Given the description of an element on the screen output the (x, y) to click on. 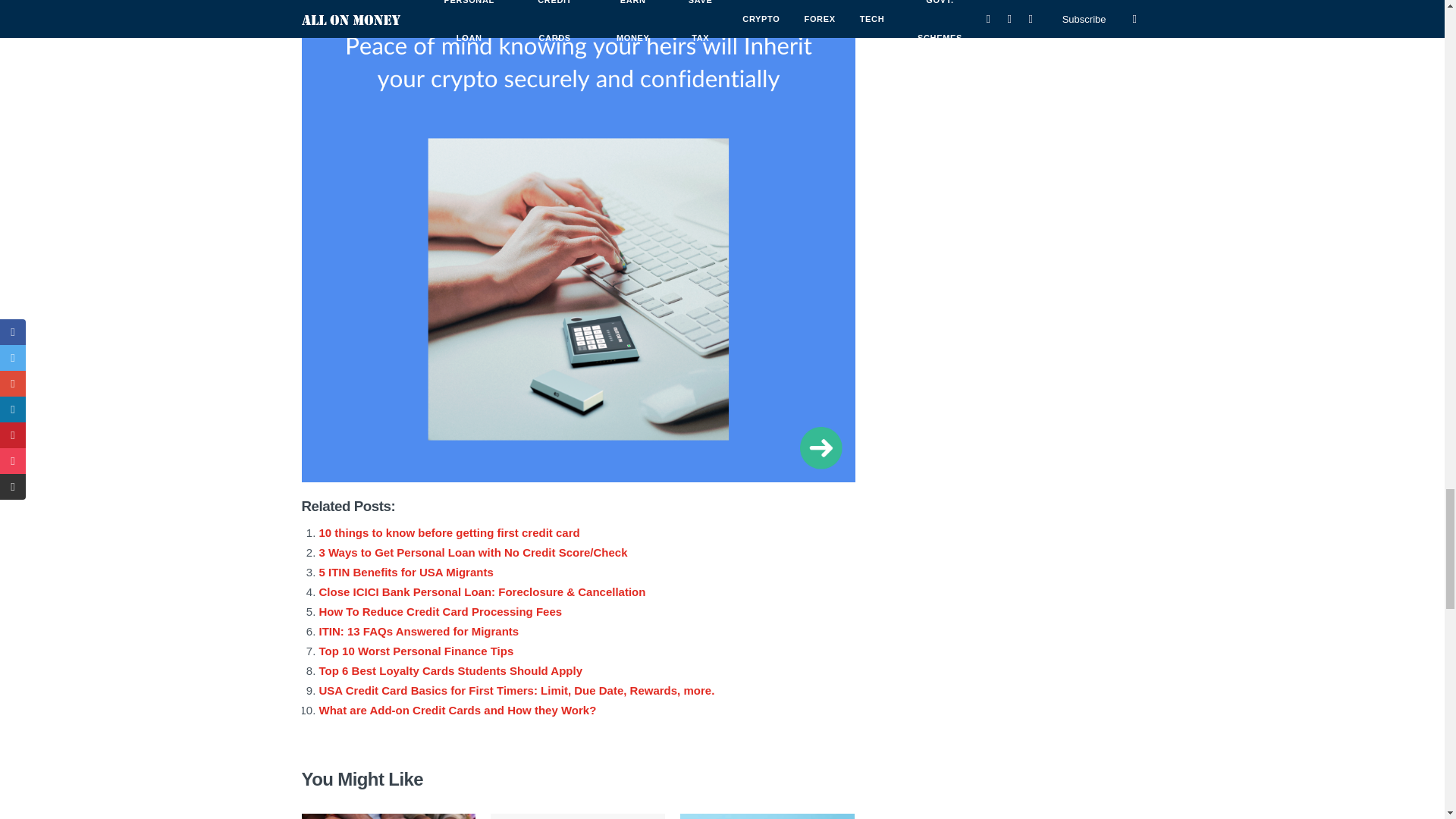
5 ITIN Benefits for USA Migrants (405, 571)
10 things to know before getting first credit card (448, 532)
